Given the description of an element on the screen output the (x, y) to click on. 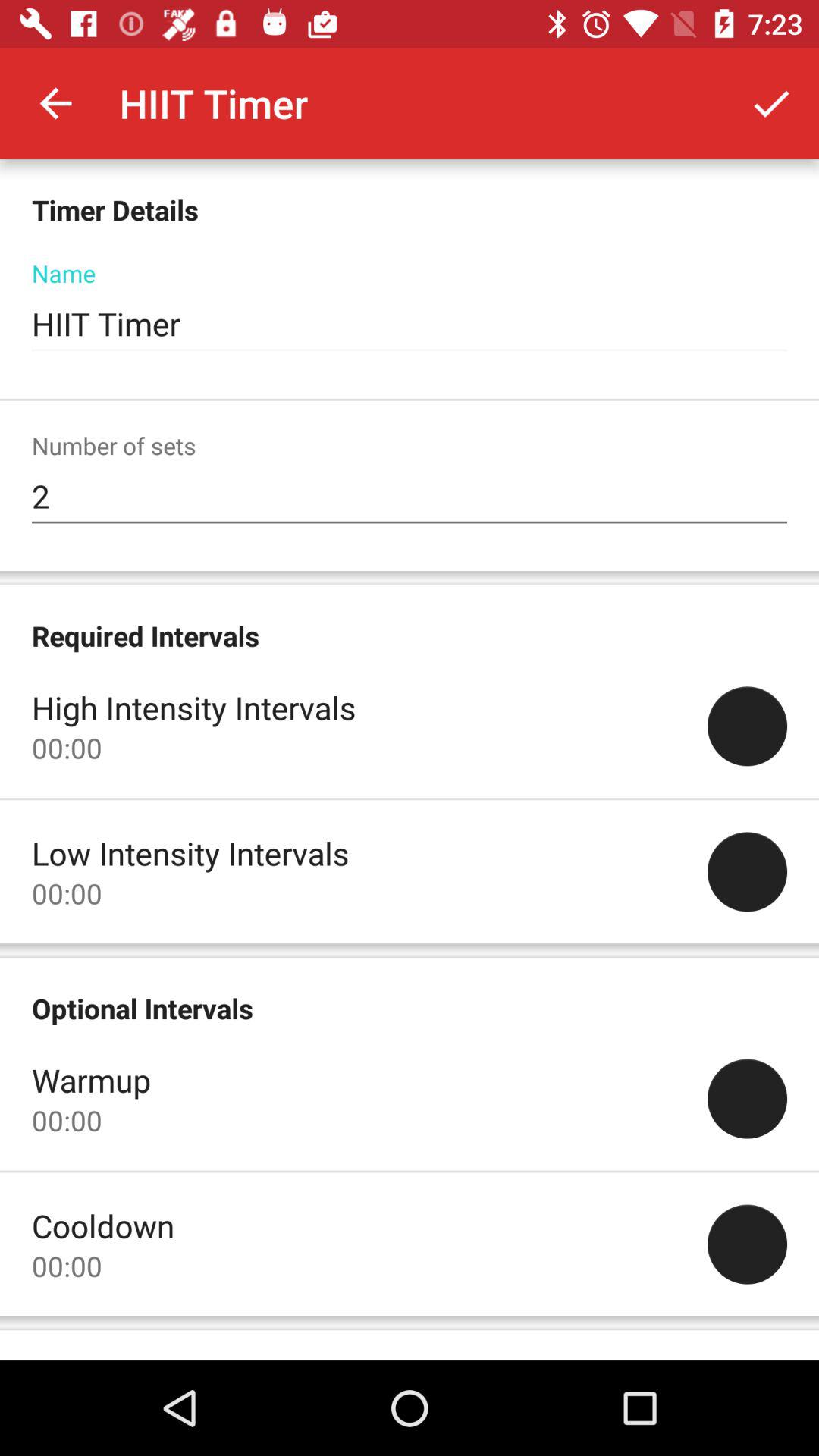
tap the icon above the timer details item (55, 103)
